Given the description of an element on the screen output the (x, y) to click on. 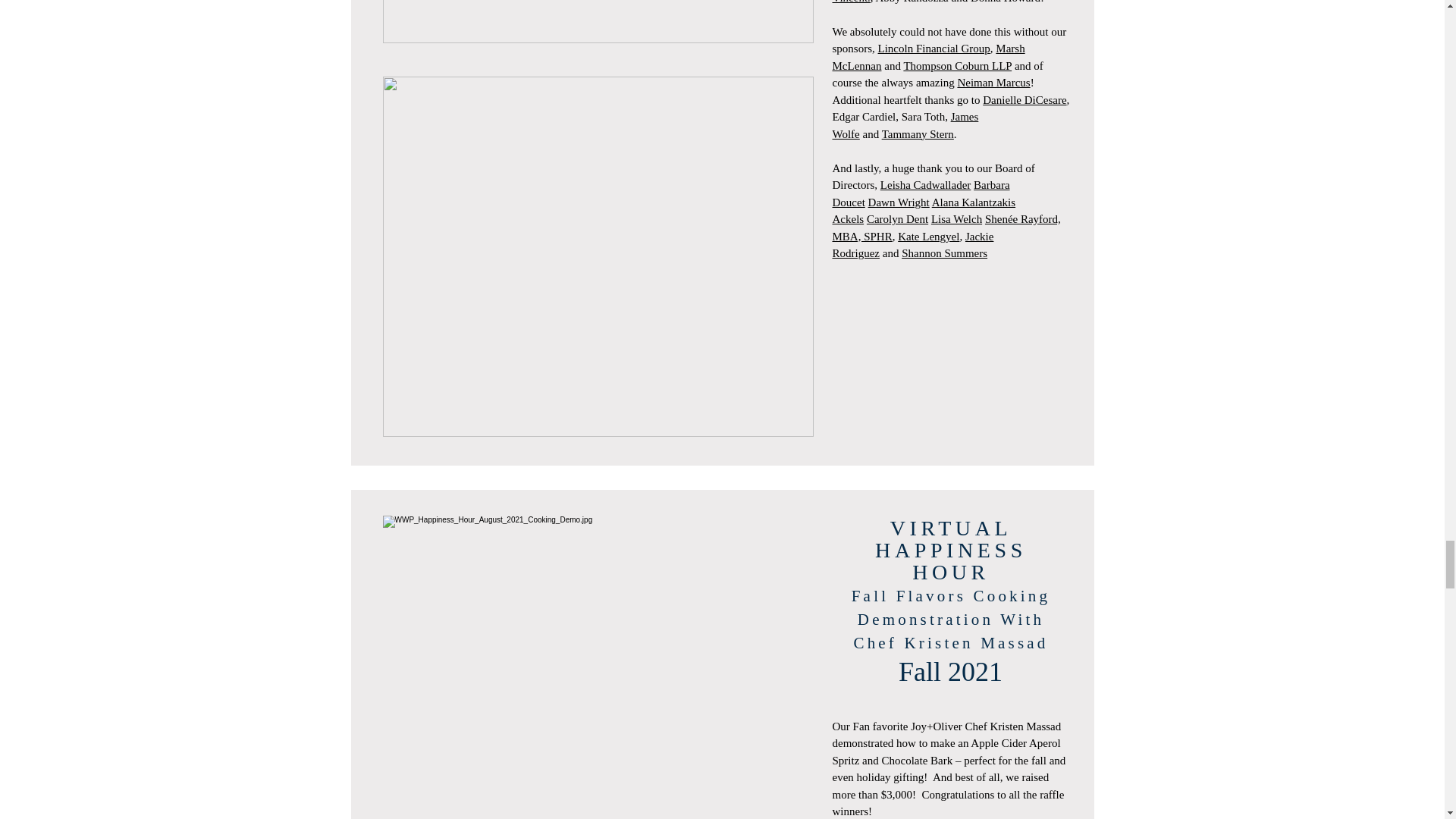
Dummea Vincent. (940, 2)
Lincoln Financial Group (933, 48)
